Given the description of an element on the screen output the (x, y) to click on. 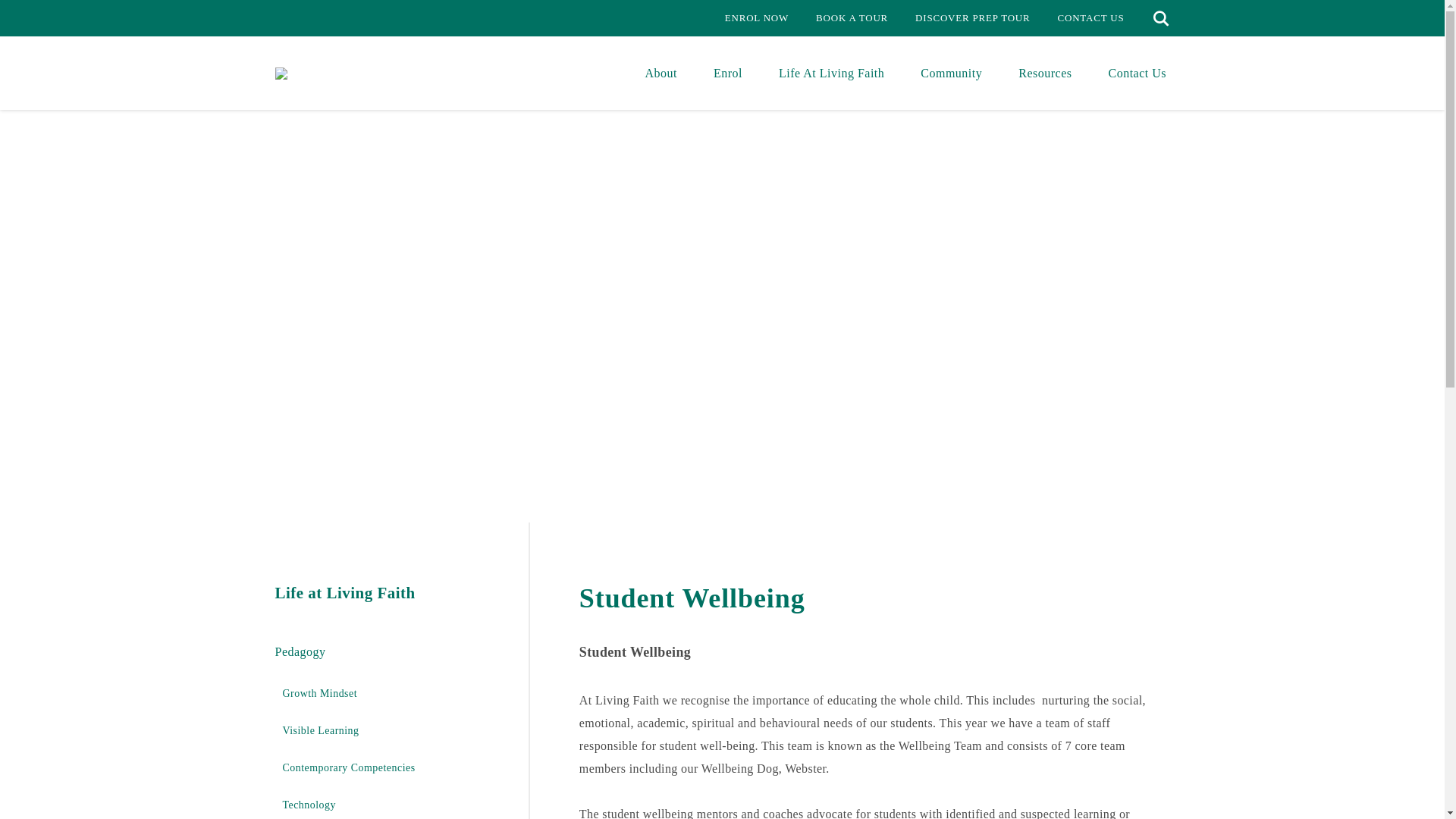
Life At Living Faith (830, 72)
Search our Website (1160, 17)
CONTACT US (1091, 17)
DISCOVER PREP TOUR (972, 17)
ENROL NOW (757, 17)
Enrol (727, 72)
BOOK A TOUR (851, 17)
Back to Homepage (280, 72)
Community (950, 72)
About (661, 72)
